Given the description of an element on the screen output the (x, y) to click on. 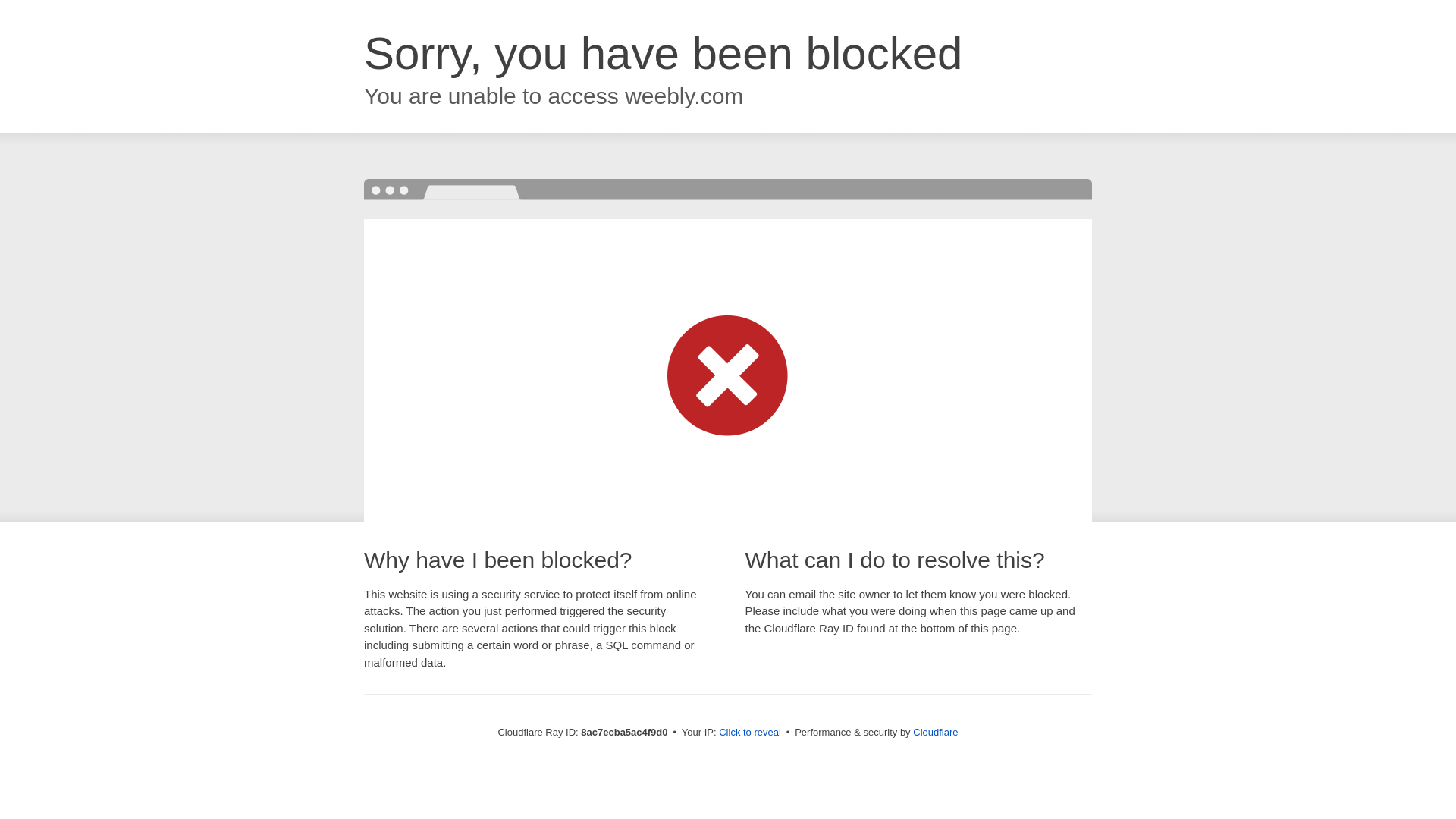
Cloudflare (935, 731)
Click to reveal (749, 732)
